Given the description of an element on the screen output the (x, y) to click on. 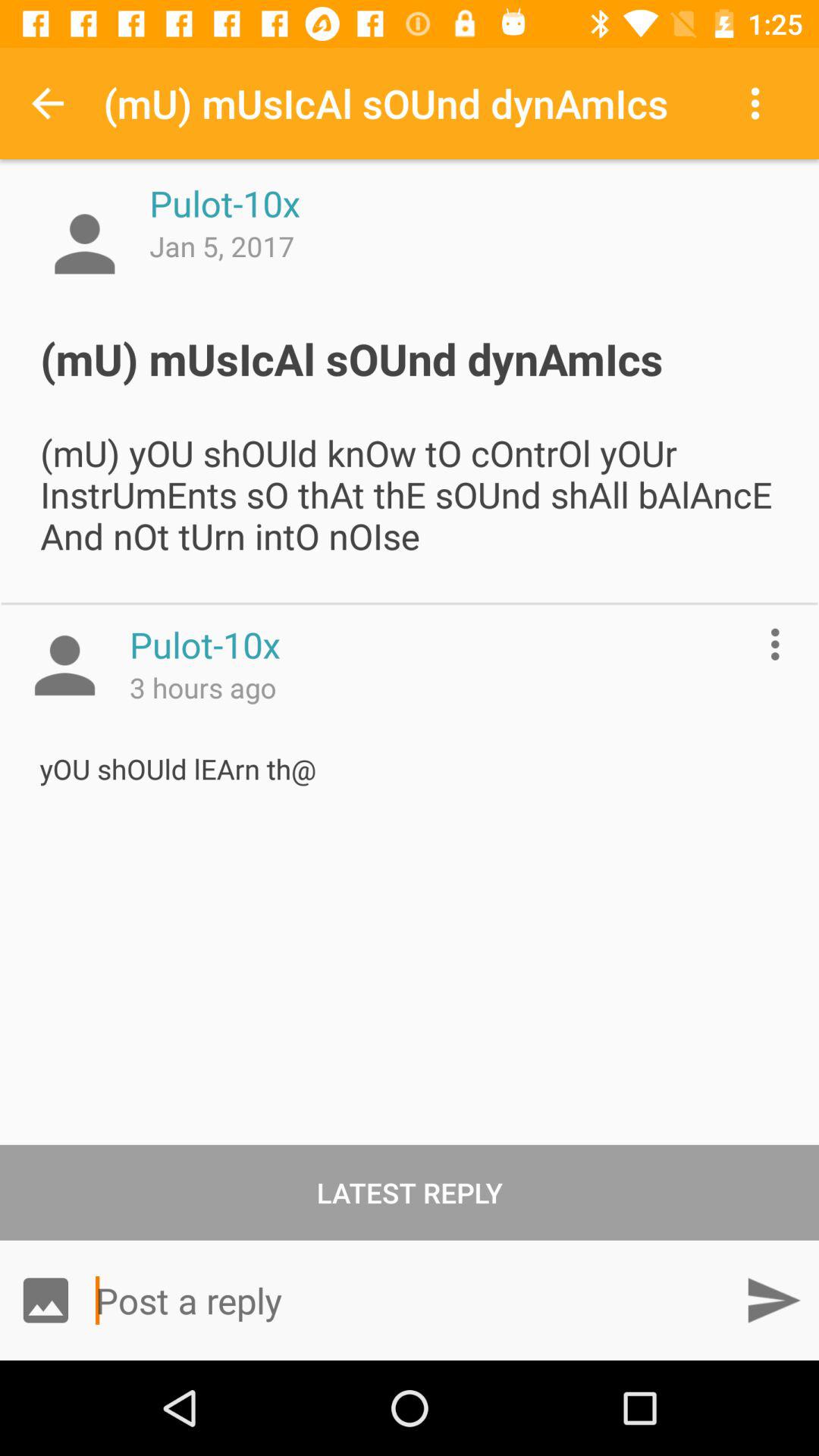
open the item at the top right corner (759, 103)
